Given the description of an element on the screen output the (x, y) to click on. 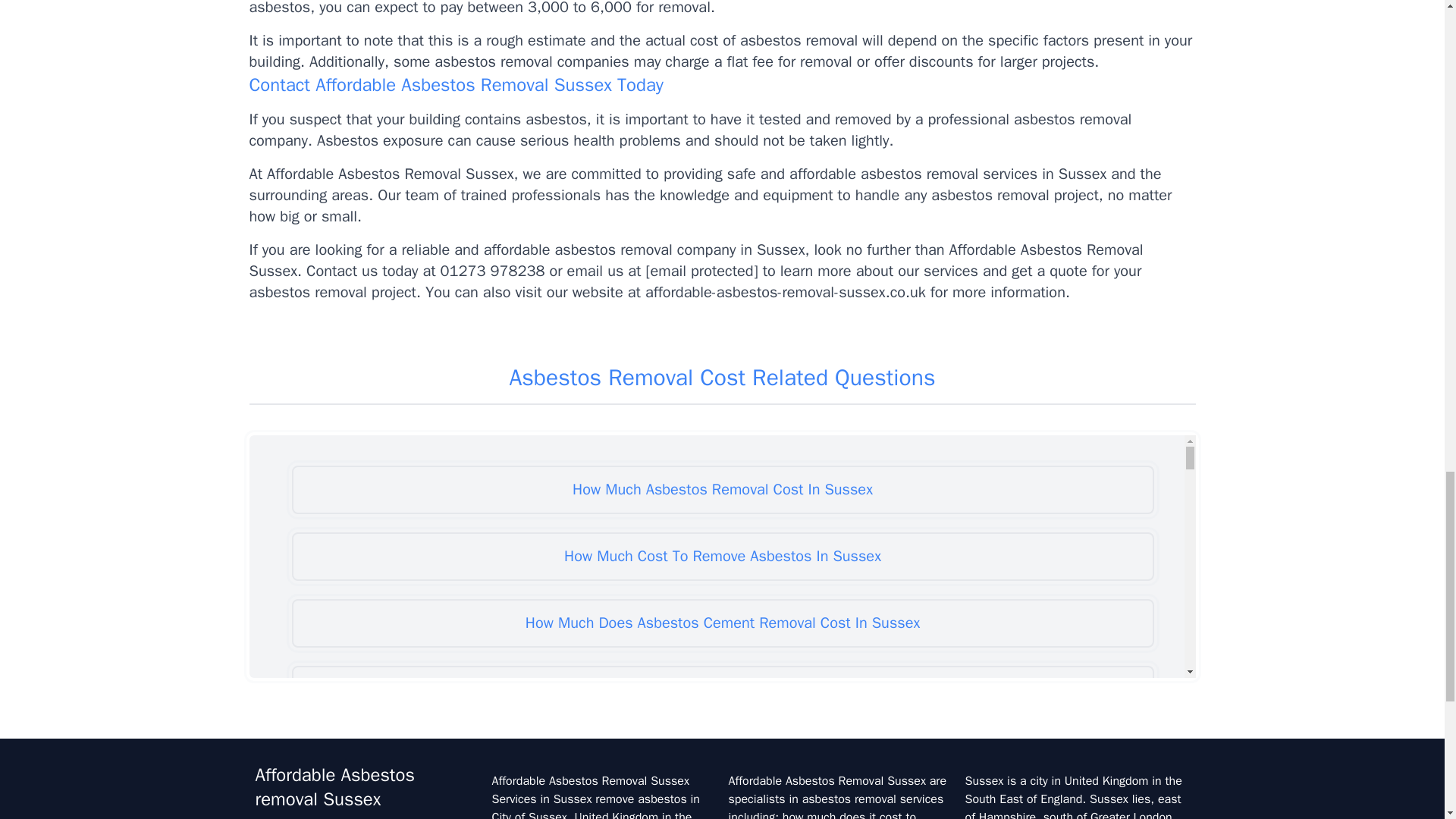
How Much Asbestos Removal Cost In Sussex (722, 490)
How Much Does Asbestos Removal Cost In Sussex (722, 756)
How Much Does Asbestos Tile Removal Cost In Sussex (722, 809)
How Much Cost To Remove Asbestos In Sussex (722, 556)
How Much Does Asbestos Cement Removal Cost In Sussex (722, 622)
